Given the description of an element on the screen output the (x, y) to click on. 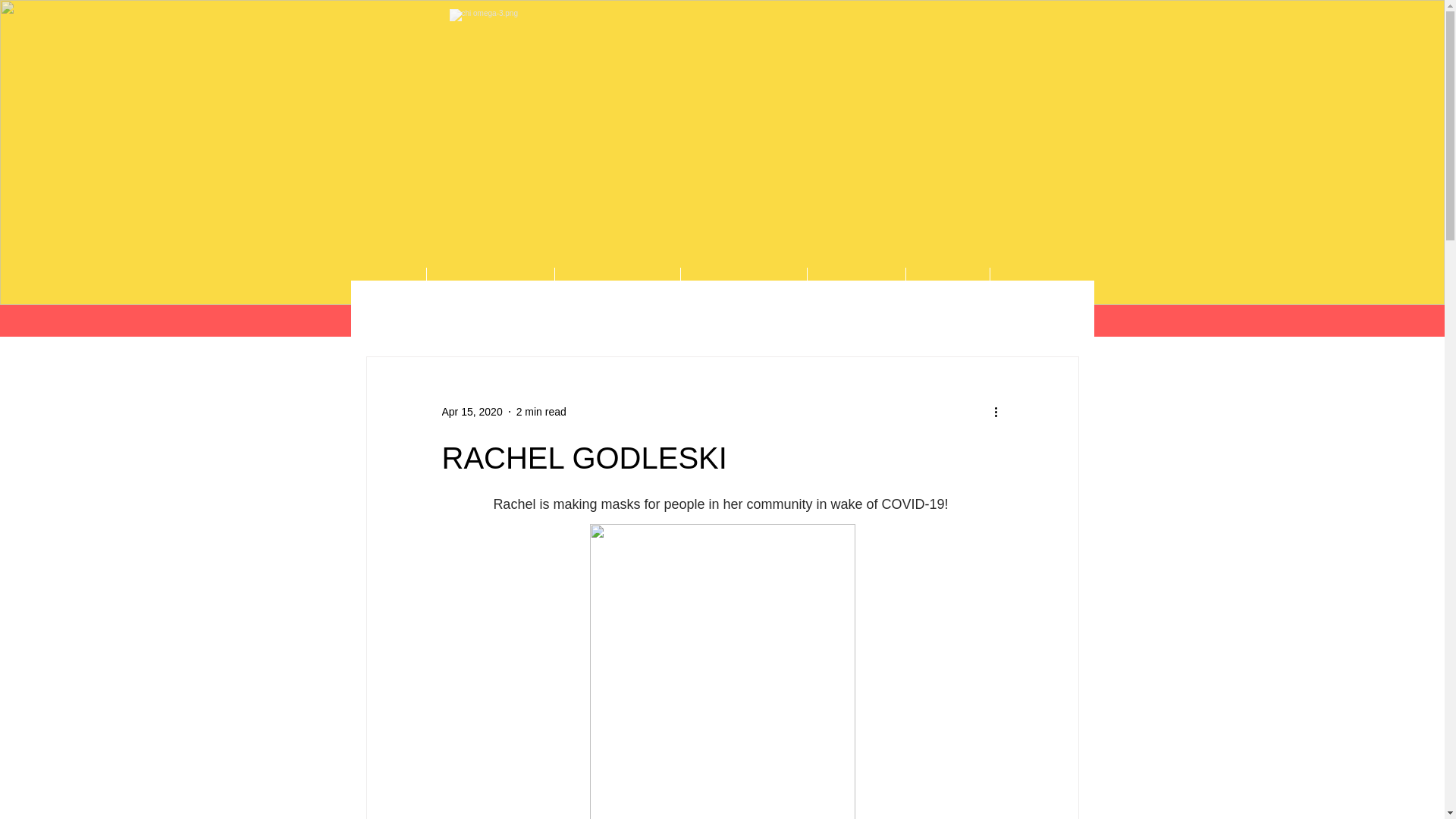
Apr 15, 2020 (471, 410)
MEMBERS (1040, 285)
RECRUITMENT (743, 285)
HOME (387, 285)
2 min read (541, 410)
